Given the description of an element on the screen output the (x, y) to click on. 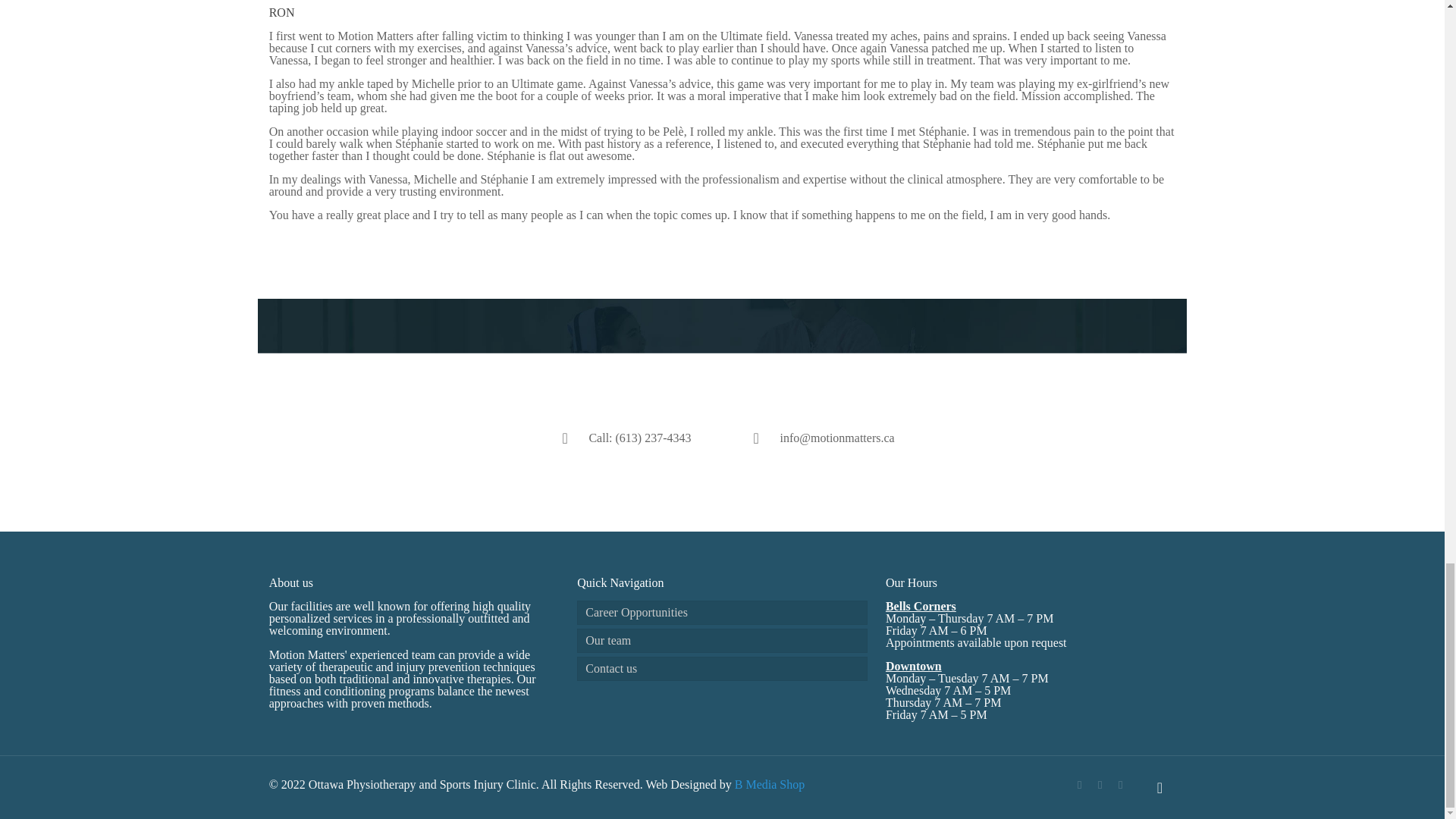
LinkedIn (1100, 784)
Instagram (1120, 784)
Facebook (1079, 784)
